Given the description of an element on the screen output the (x, y) to click on. 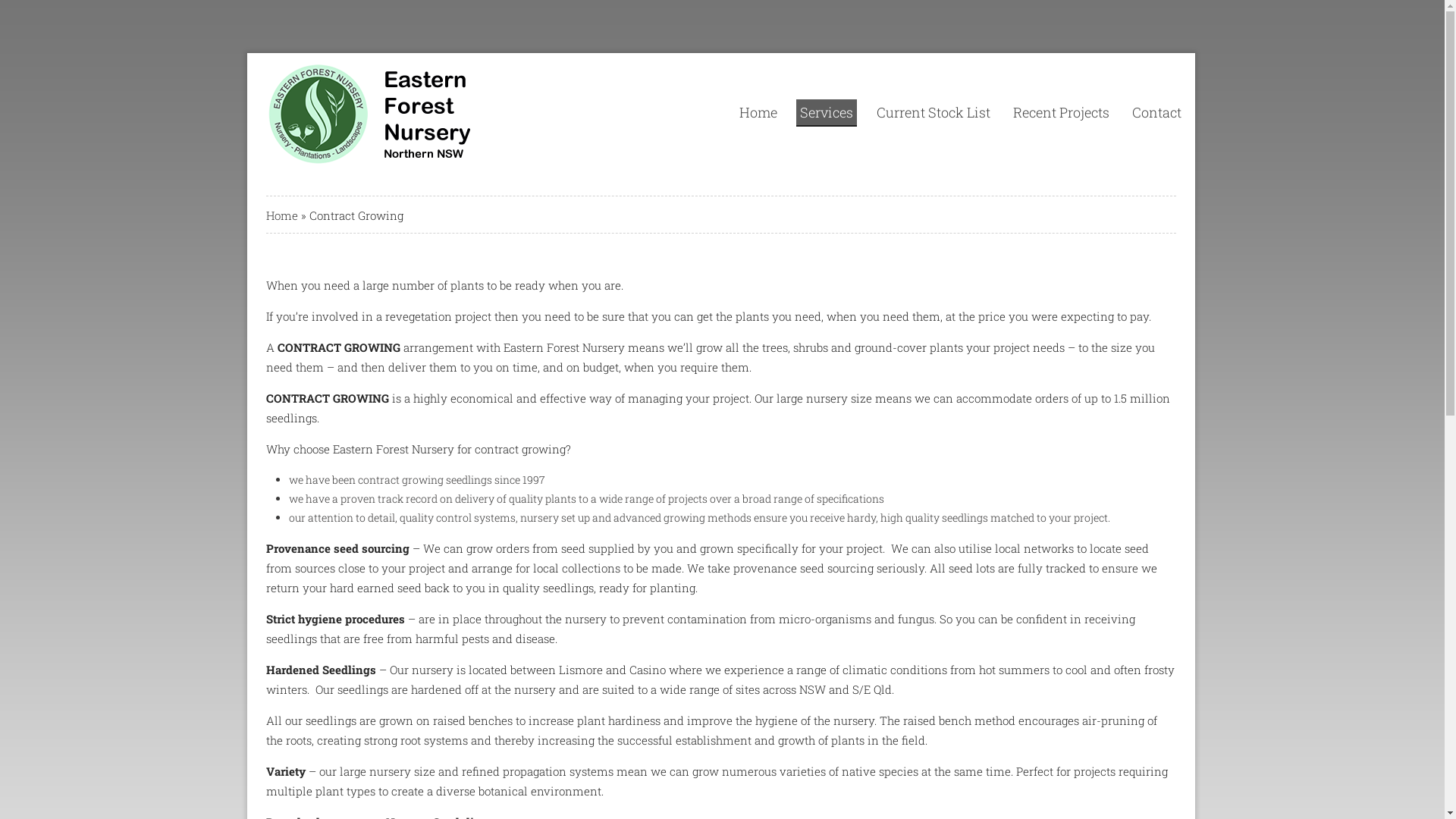
Services Element type: text (826, 112)
Recent Projects Element type: text (1061, 112)
Current Stock List Element type: text (933, 112)
Contact Element type: text (1156, 112)
Home Element type: text (282, 214)
Home Element type: text (758, 112)
